Given the description of an element on the screen output the (x, y) to click on. 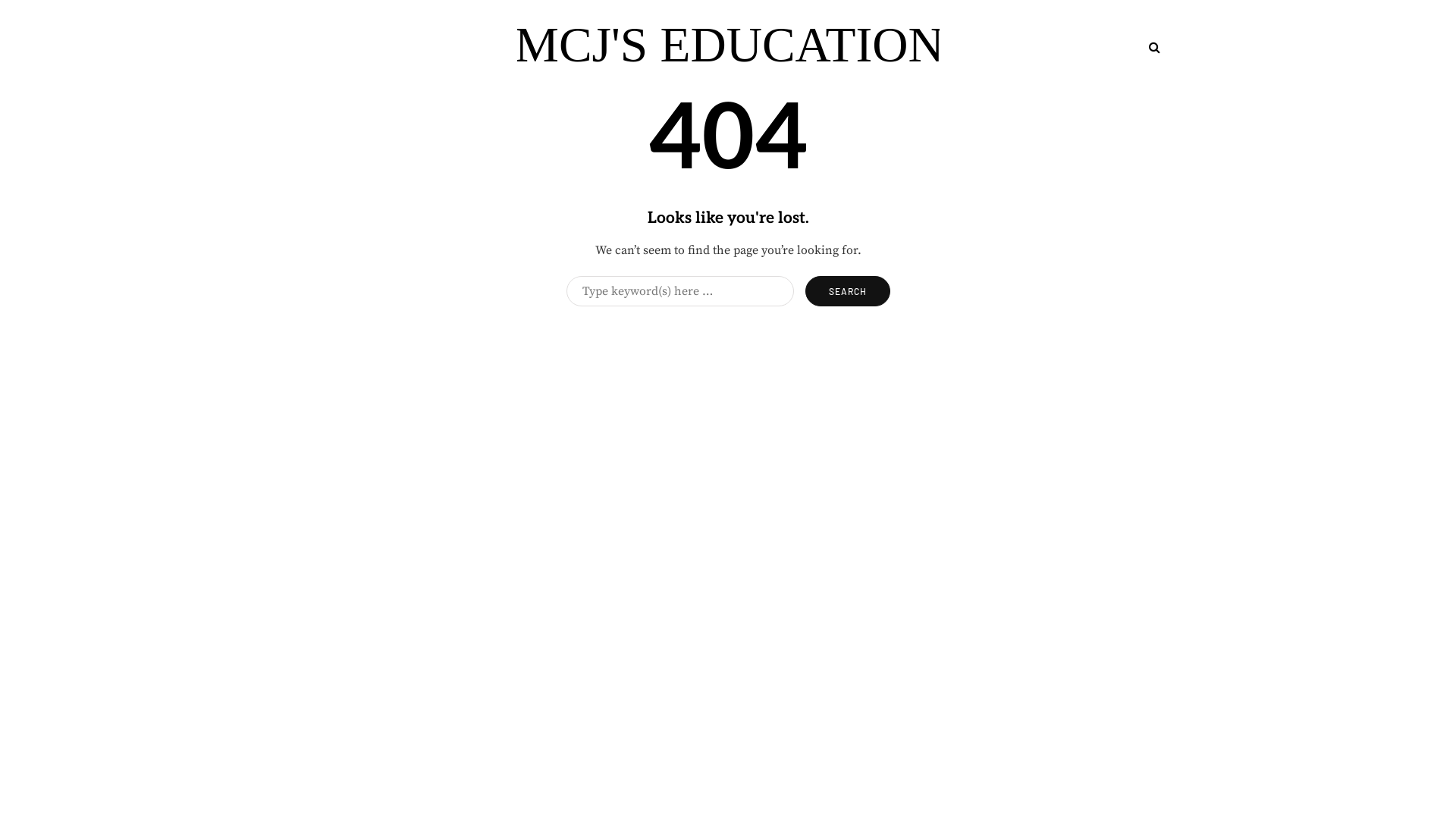
Search Element type: text (847, 291)
